Given the description of an element on the screen output the (x, y) to click on. 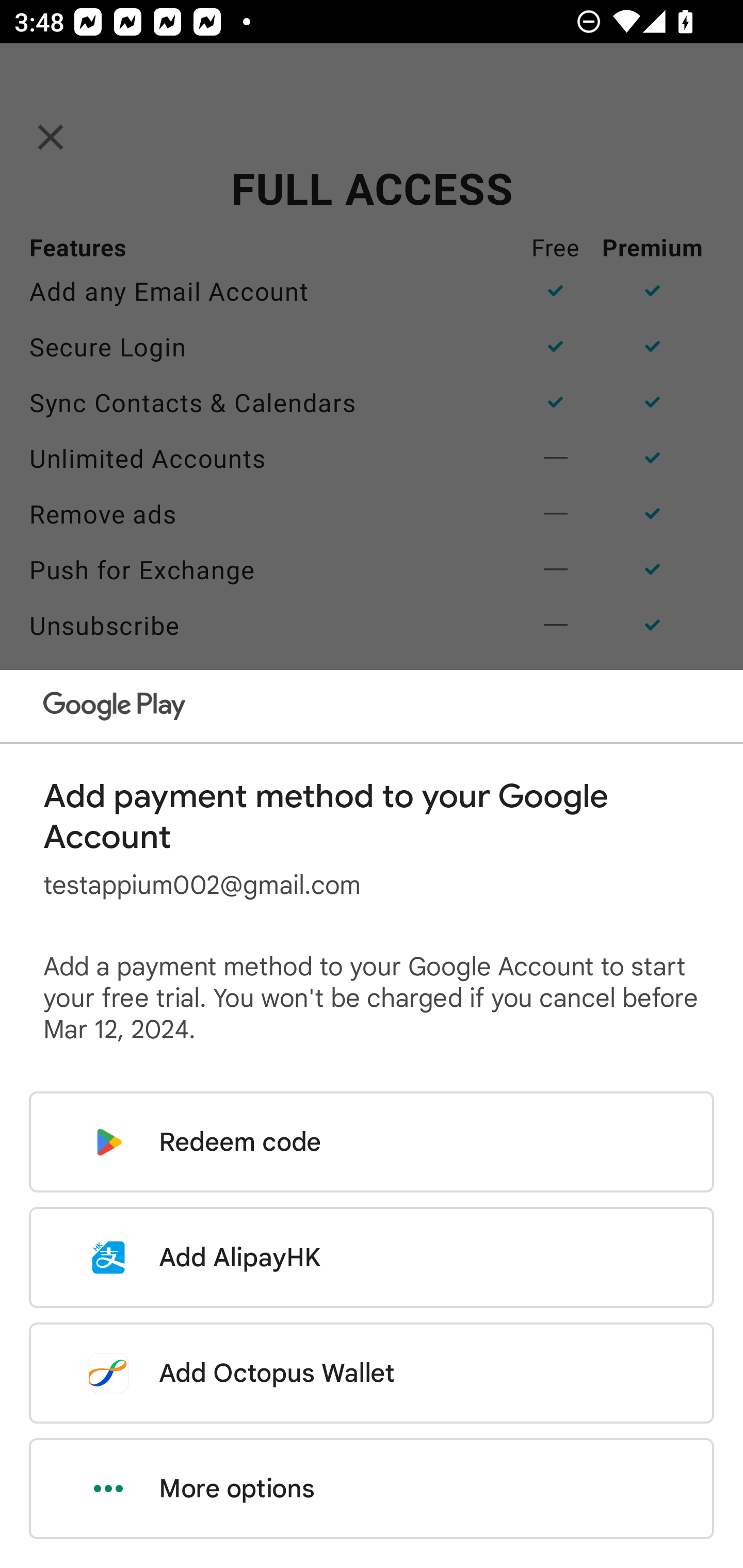
Redeem code (371, 1142)
Add AlipayHK (371, 1257)
Add Octopus Wallet (371, 1372)
More options (371, 1488)
